Given the description of an element on the screen output the (x, y) to click on. 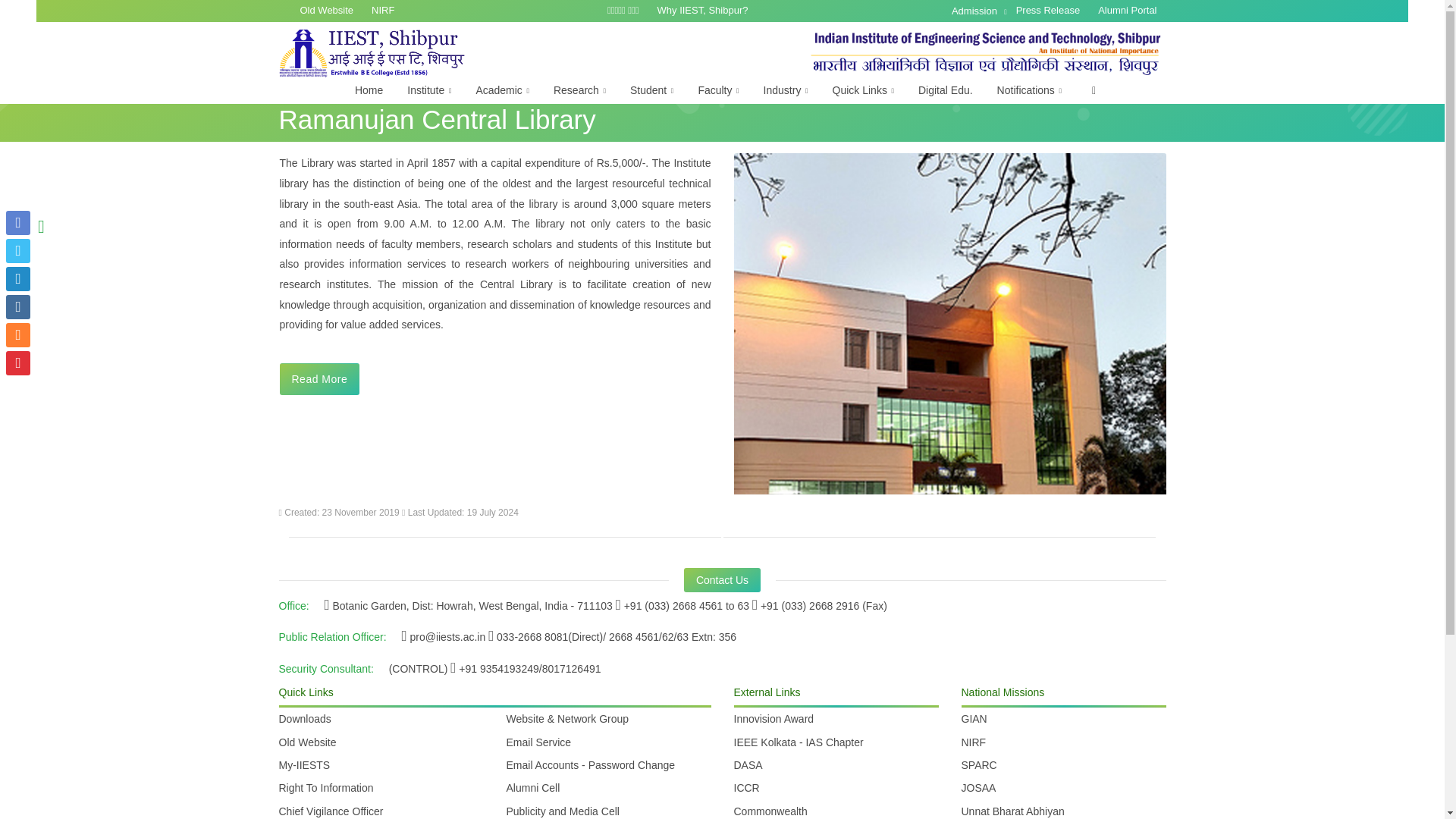
Admission (979, 10)
Why IIEST, Shibpur? (702, 11)
NIRF (382, 11)
Institute (428, 90)
Home (368, 90)
Alumni Portal (1127, 11)
Press Release (1048, 11)
Old Website (326, 11)
